Given the description of an element on the screen output the (x, y) to click on. 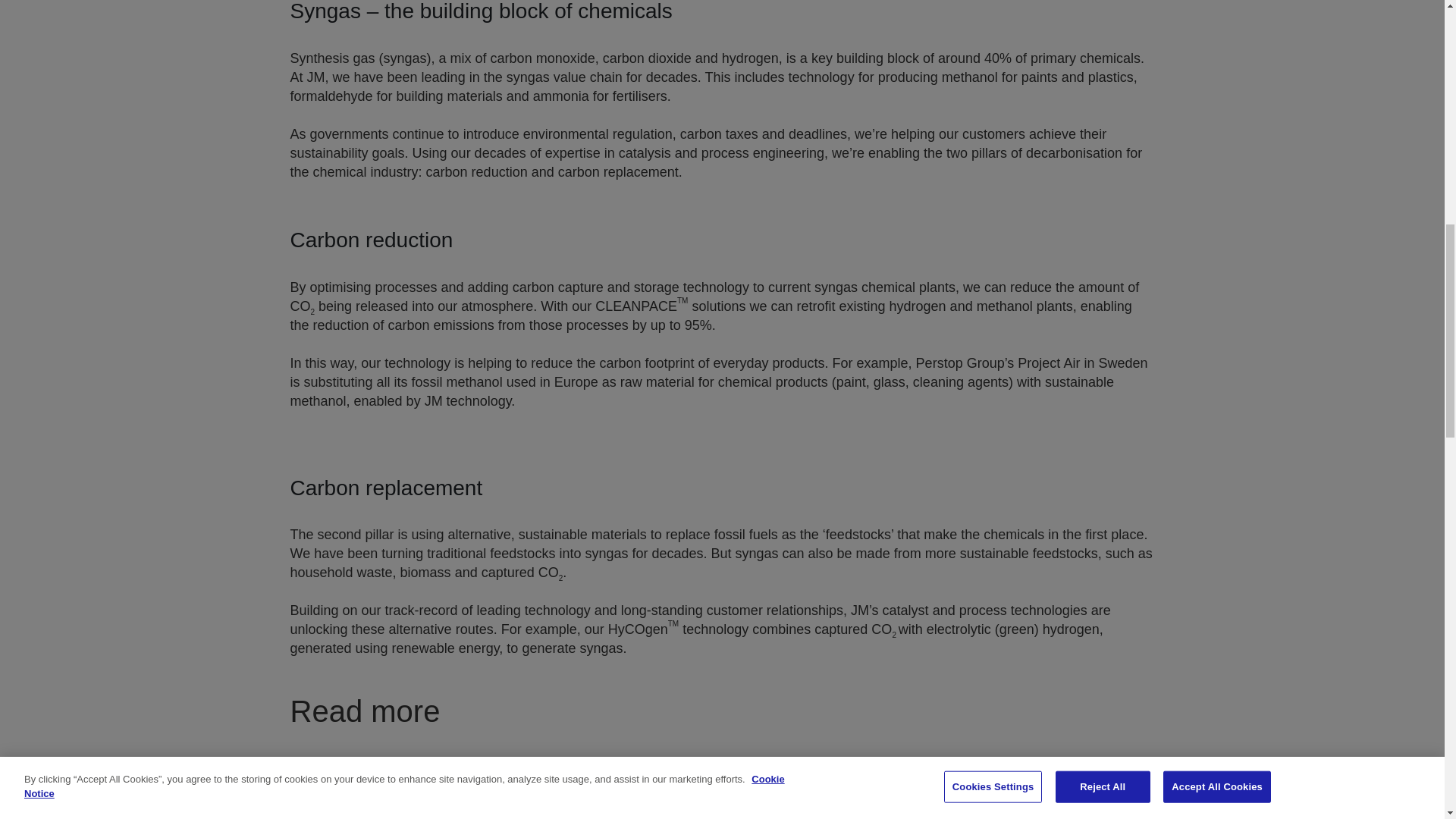
Ammonia and nitric acid (499, 796)
Formaldehyde (943, 796)
